Given the description of an element on the screen output the (x, y) to click on. 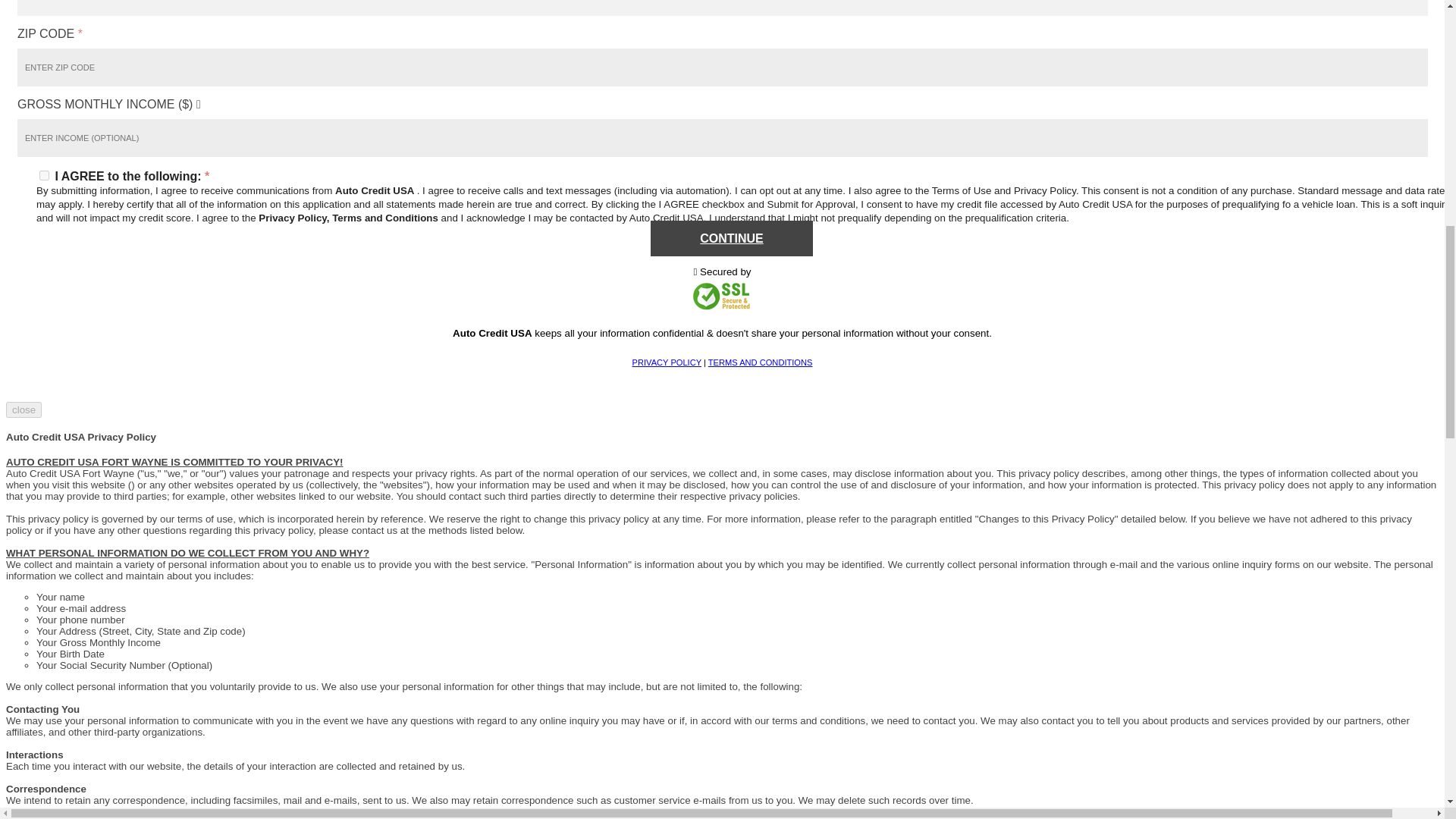
CONTINUE (731, 238)
close (23, 409)
PRIVACY POLICY (666, 361)
TERMS AND CONDITIONS (759, 361)
yes (44, 175)
